Given the description of an element on the screen output the (x, y) to click on. 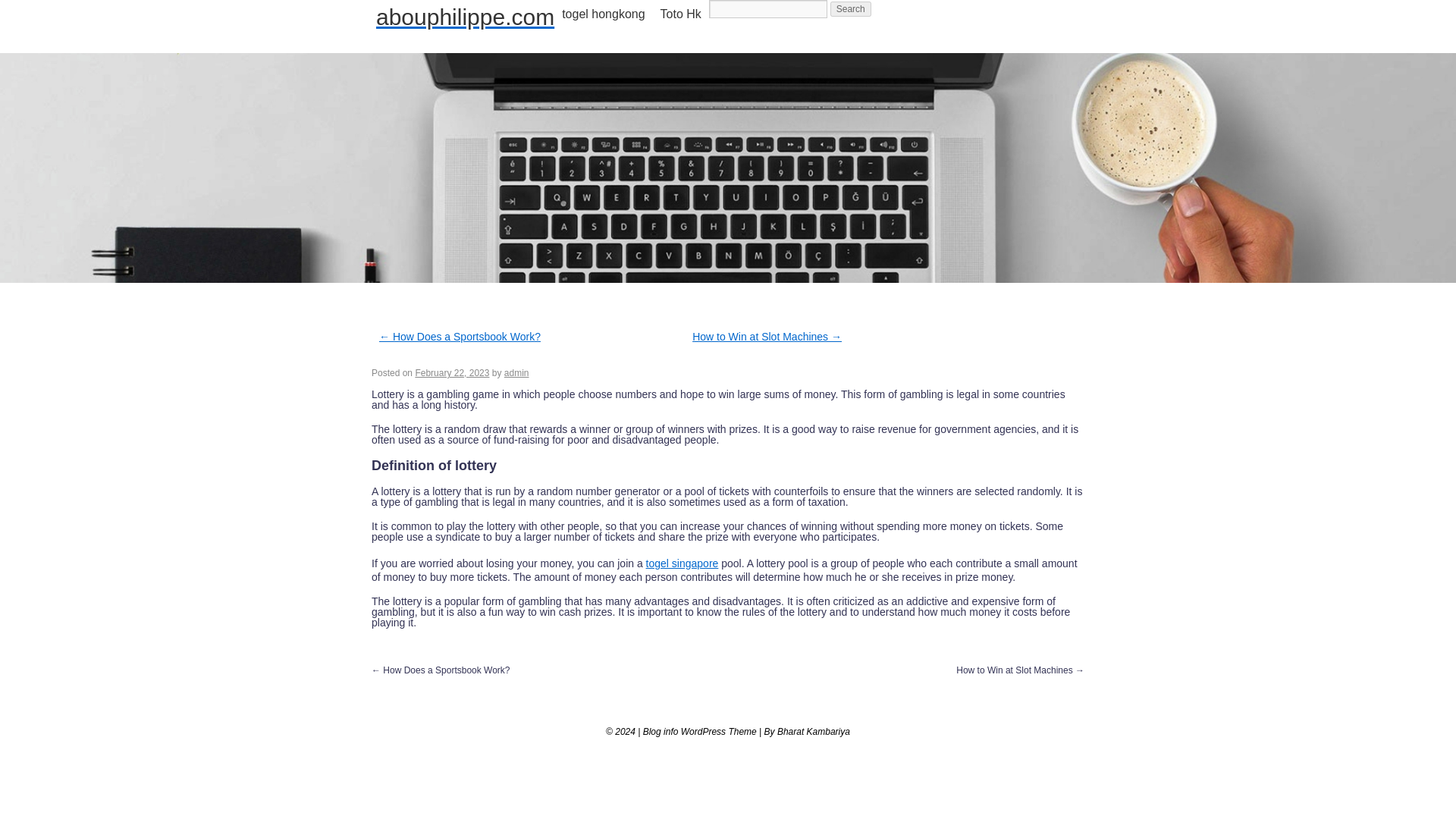
11:57 pm (451, 372)
admin (516, 372)
togel singapore (682, 563)
Toto Hk (680, 14)
Search (849, 8)
abouphilippe.com (464, 16)
View all posts by admin (516, 372)
Search (849, 8)
togel hongkong (603, 14)
February 22, 2023 (451, 372)
